Given the description of an element on the screen output the (x, y) to click on. 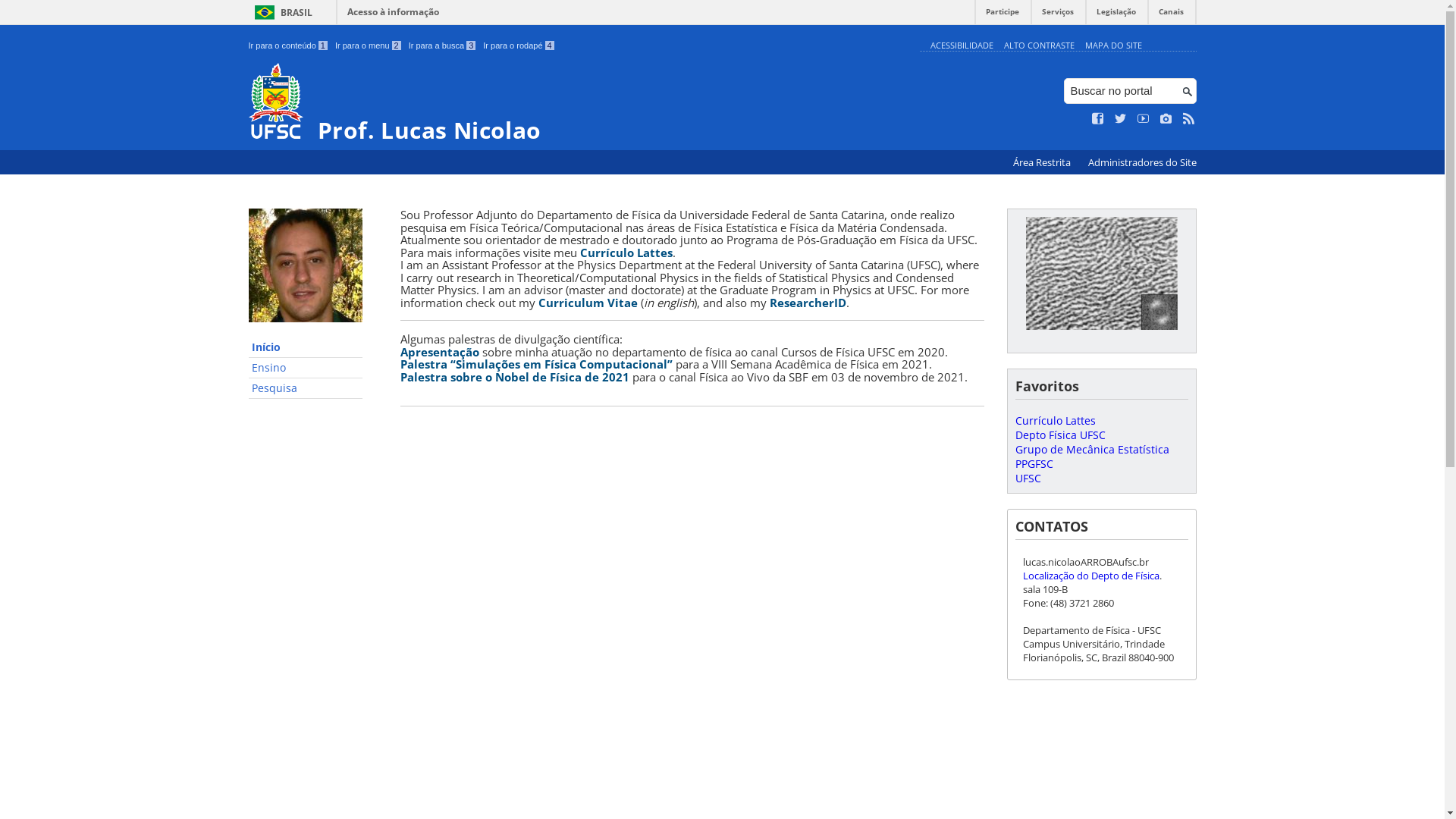
Veja no Instagram Element type: hover (1166, 118)
Ensino Element type: text (305, 367)
ACESSIBILIDADE Element type: text (960, 44)
ALTO CONTRASTE Element type: text (1039, 44)
Siga no Twitter Element type: hover (1120, 118)
BRASIL Element type: text (280, 12)
Participe Element type: text (1002, 15)
PPGFSC Element type: text (1033, 463)
Curta no Facebook Element type: hover (1098, 118)
ResearcherID Element type: text (806, 301)
Canais Element type: text (1171, 15)
MAPA DO SITE Element type: text (1112, 44)
UFSC Element type: text (1027, 477)
Ir para a busca 3 Element type: text (442, 45)
Curriculum Vitae Element type: text (587, 301)
Pesquisa Element type: text (305, 388)
Administradores do Site Element type: text (1141, 162)
Ir para o menu 2 Element type: text (368, 45)
Prof. Lucas Nicolao Element type: text (580, 102)
